Given the description of an element on the screen output the (x, y) to click on. 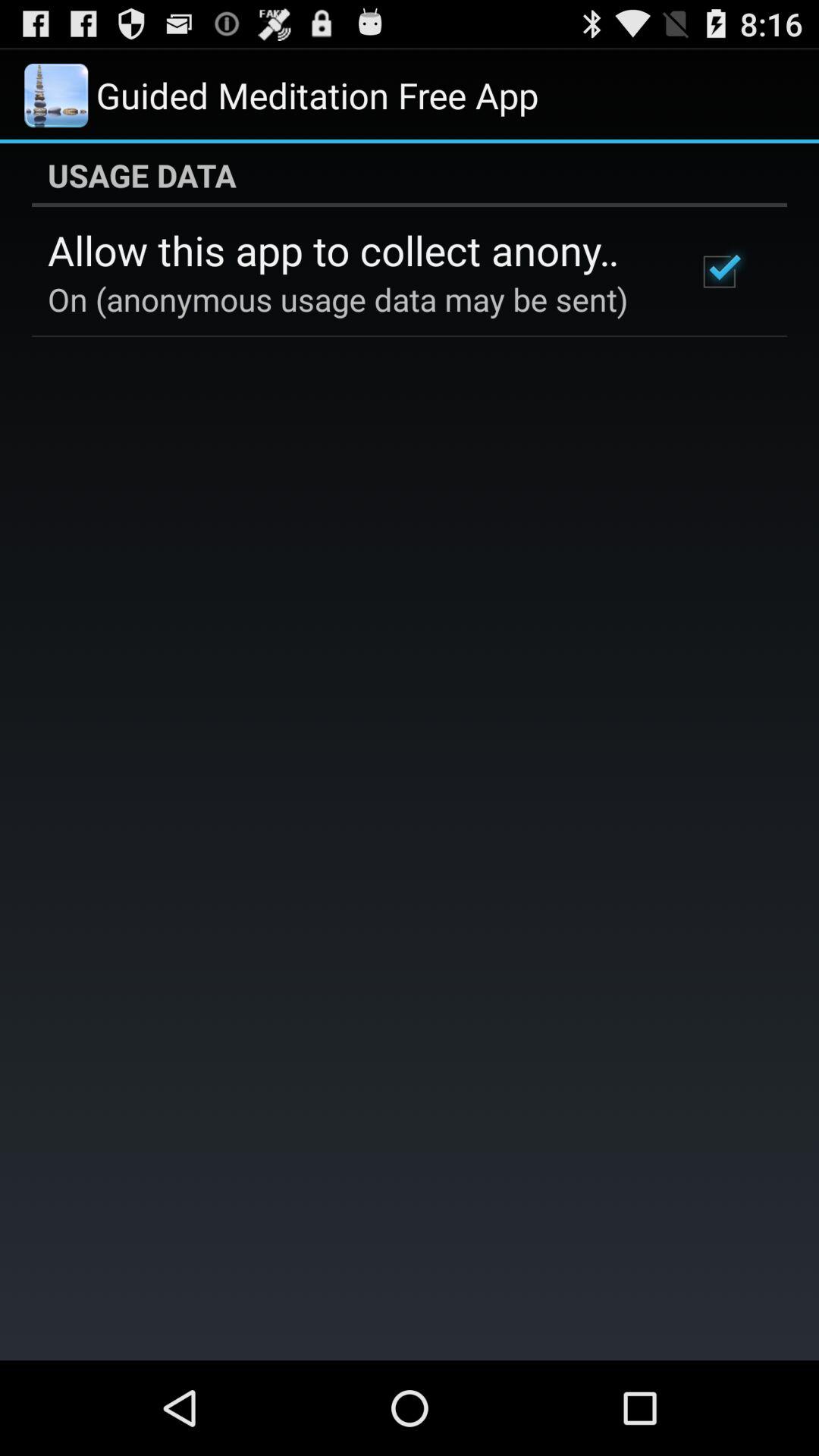
select the app above on anonymous usage icon (351, 249)
